Given the description of an element on the screen output the (x, y) to click on. 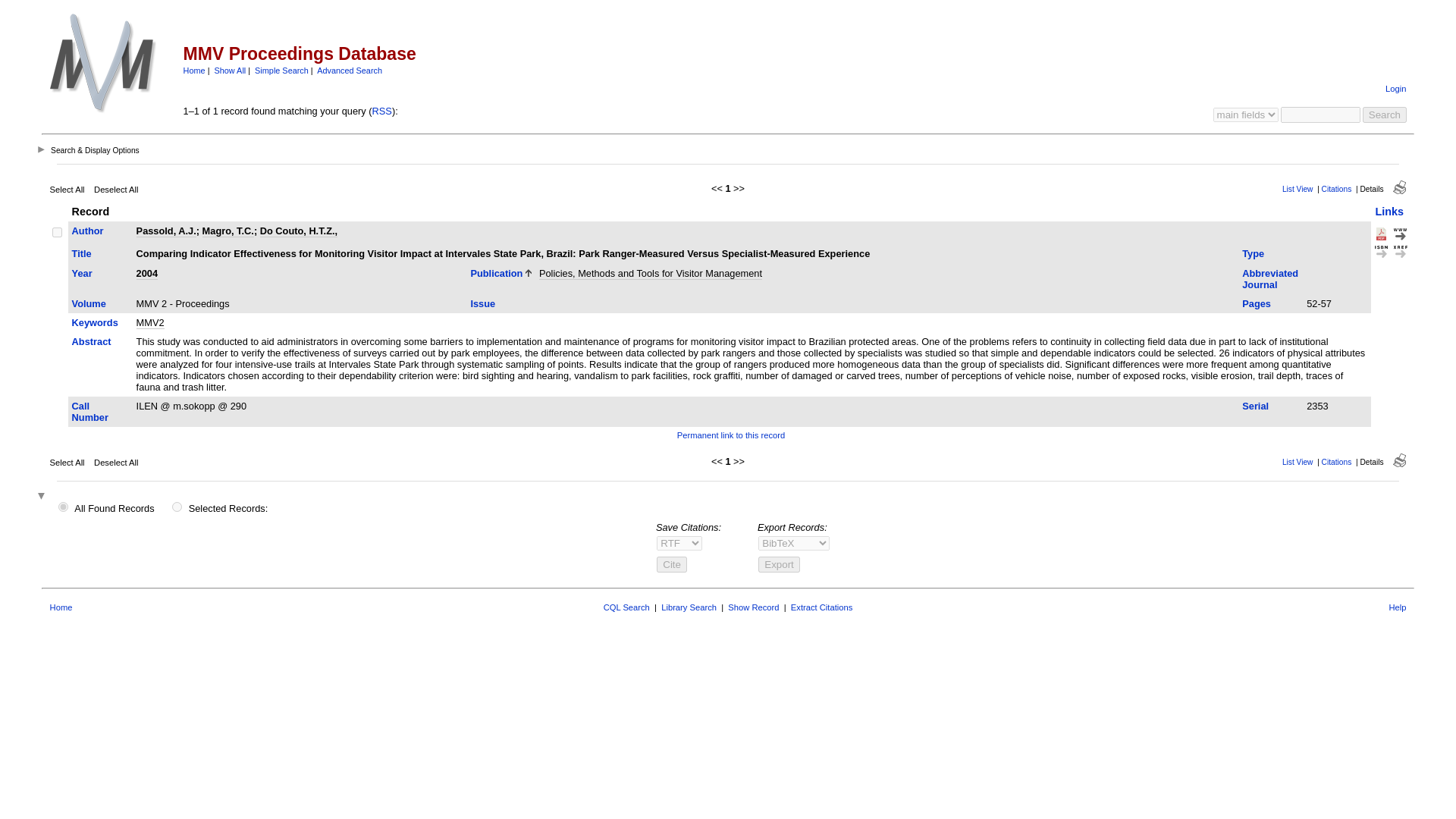
Keywords (94, 322)
Home (194, 70)
Login (1396, 88)
choose the field you want to search (1245, 114)
RSS (381, 111)
Advanced Search (349, 70)
Volume (88, 303)
Type (1252, 253)
Select All (66, 189)
Year (82, 273)
